Given the description of an element on the screen output the (x, y) to click on. 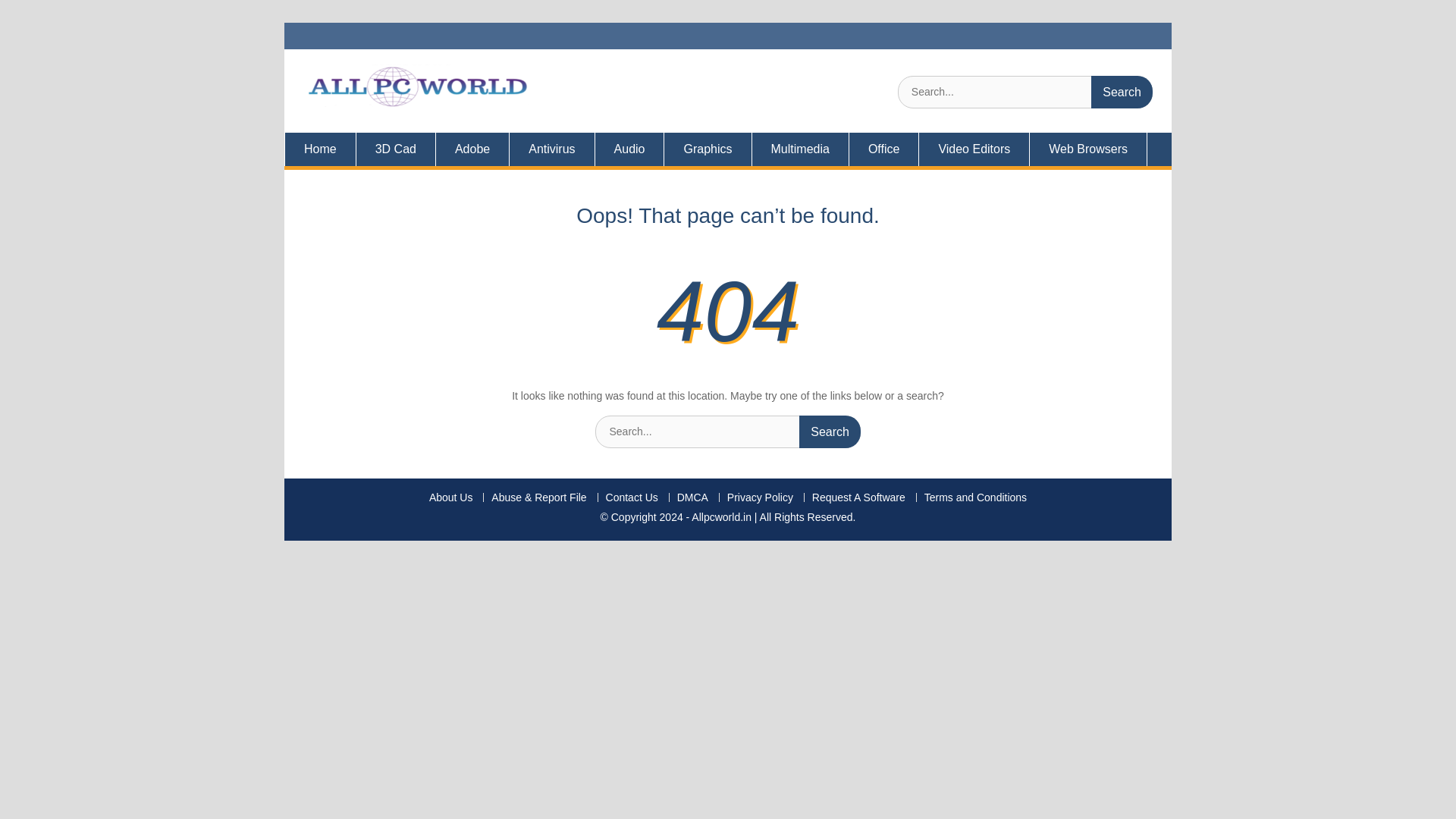
Multimedia (800, 149)
Terms and Conditions (974, 497)
3D Cad (395, 149)
Search (1121, 92)
Contact Us (630, 497)
Search (1121, 92)
Adobe (472, 149)
Search for: (727, 431)
Privacy Policy (759, 497)
